Given the description of an element on the screen output the (x, y) to click on. 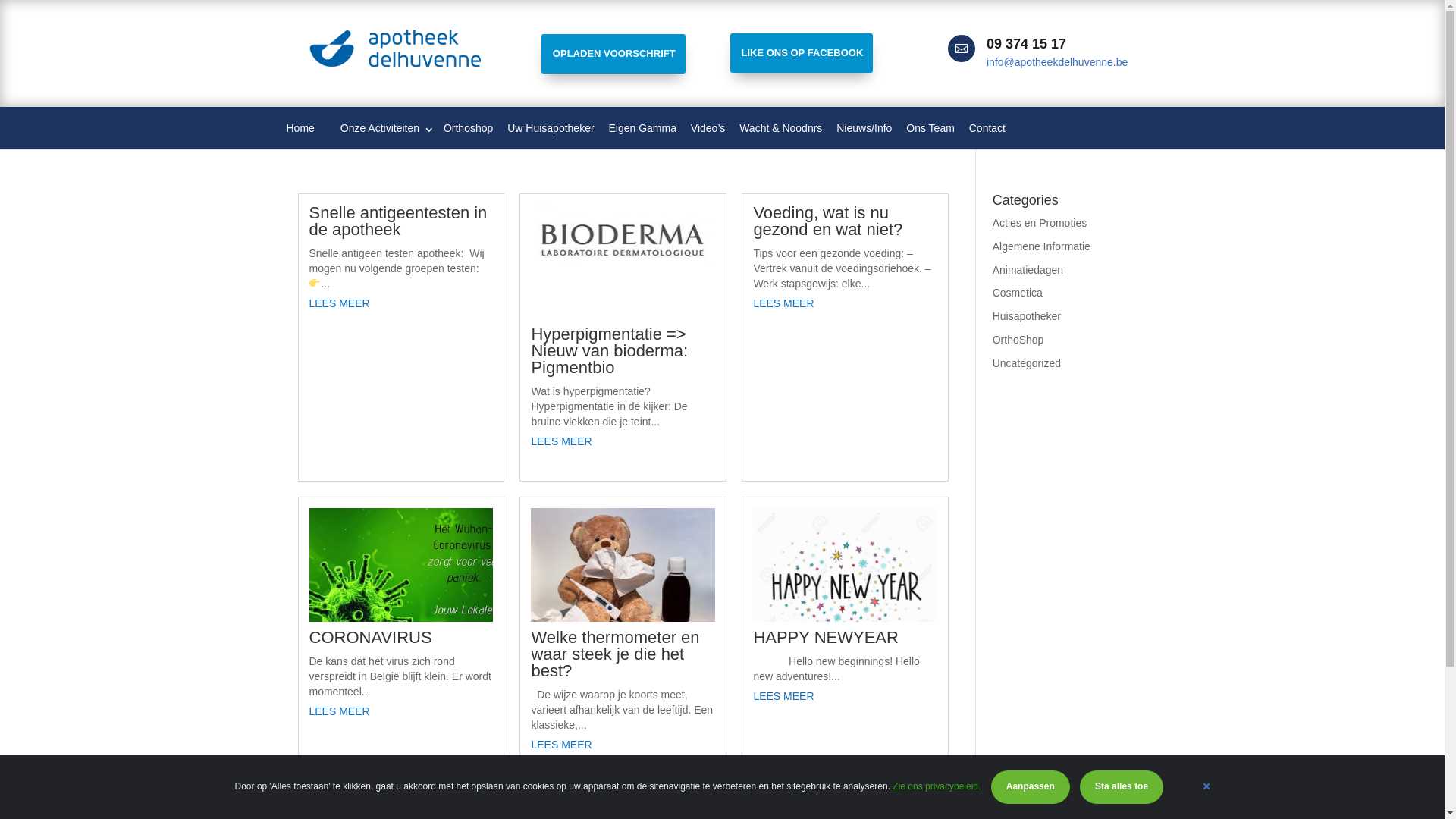
Uw Huisapotheker Element type: text (550, 128)
Orthoshop Element type: text (467, 128)
Home Element type: text (300, 128)
OrthoShop Element type: text (1018, 339)
Welke thermometer en waar steek je die het best? Element type: text (614, 653)
LIKE ONS OP FACEBOOK Element type: text (800, 52)
Hyperpigmentatie => Nieuw van bioderma: Pigmentbio Element type: text (608, 350)
Voeding, wat is nu gezond en wat niet? Element type: text (827, 220)
LEES MEER Element type: text (401, 710)
HAPPY NEWYEAR Element type: text (825, 636)
LEES MEER Element type: text (622, 744)
CORONAVIRUS Element type: text (370, 636)
Eigen Gamma Element type: text (641, 128)
info@apotheekdelhuvenne.be Element type: text (1056, 62)
Ons Team Element type: text (930, 128)
LEES MEER Element type: text (845, 302)
OPLADEN VOORSCHRIFT Element type: text (613, 53)
Uncategorized Element type: text (1026, 363)
Contact Element type: text (987, 128)
Onze Activiteiten Element type: text (374, 128)
Zie ons privacybeleid. Element type: text (936, 786)
Acties en Promoties Element type: text (1039, 222)
LEES MEER Element type: text (845, 695)
LEES MEER Element type: text (622, 440)
Snelle antigeentesten in de apotheek Element type: text (398, 220)
Animatiedagen Element type: text (1027, 269)
Nieuws/Info Element type: text (863, 128)
Wacht & Noodnrs Element type: text (780, 128)
Cosmetica Element type: text (1017, 292)
Huisapotheker Element type: text (1026, 316)
LEES MEER Element type: text (401, 302)
Aanpassen Element type: text (1030, 786)
Algemene Informatie Element type: text (1041, 246)
Sta alles toe Element type: text (1121, 786)
